Given the description of an element on the screen output the (x, y) to click on. 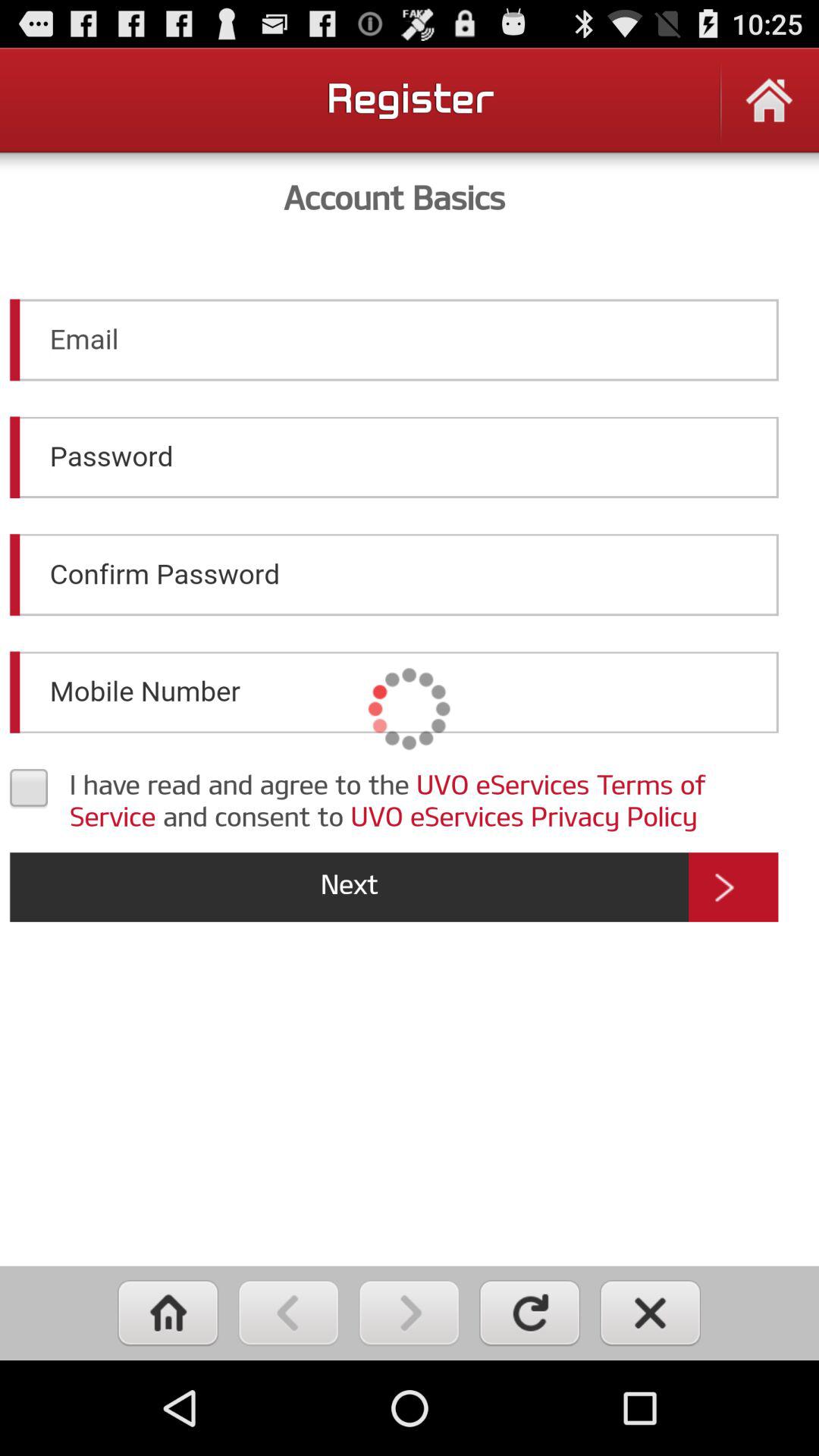
home page (769, 110)
